Given the description of an element on the screen output the (x, y) to click on. 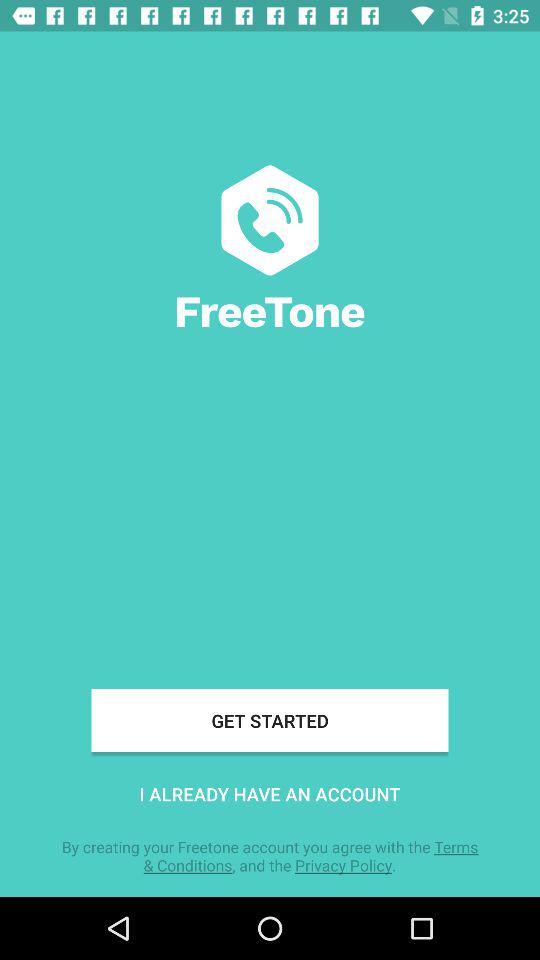
flip to the by creating your (270, 856)
